Given the description of an element on the screen output the (x, y) to click on. 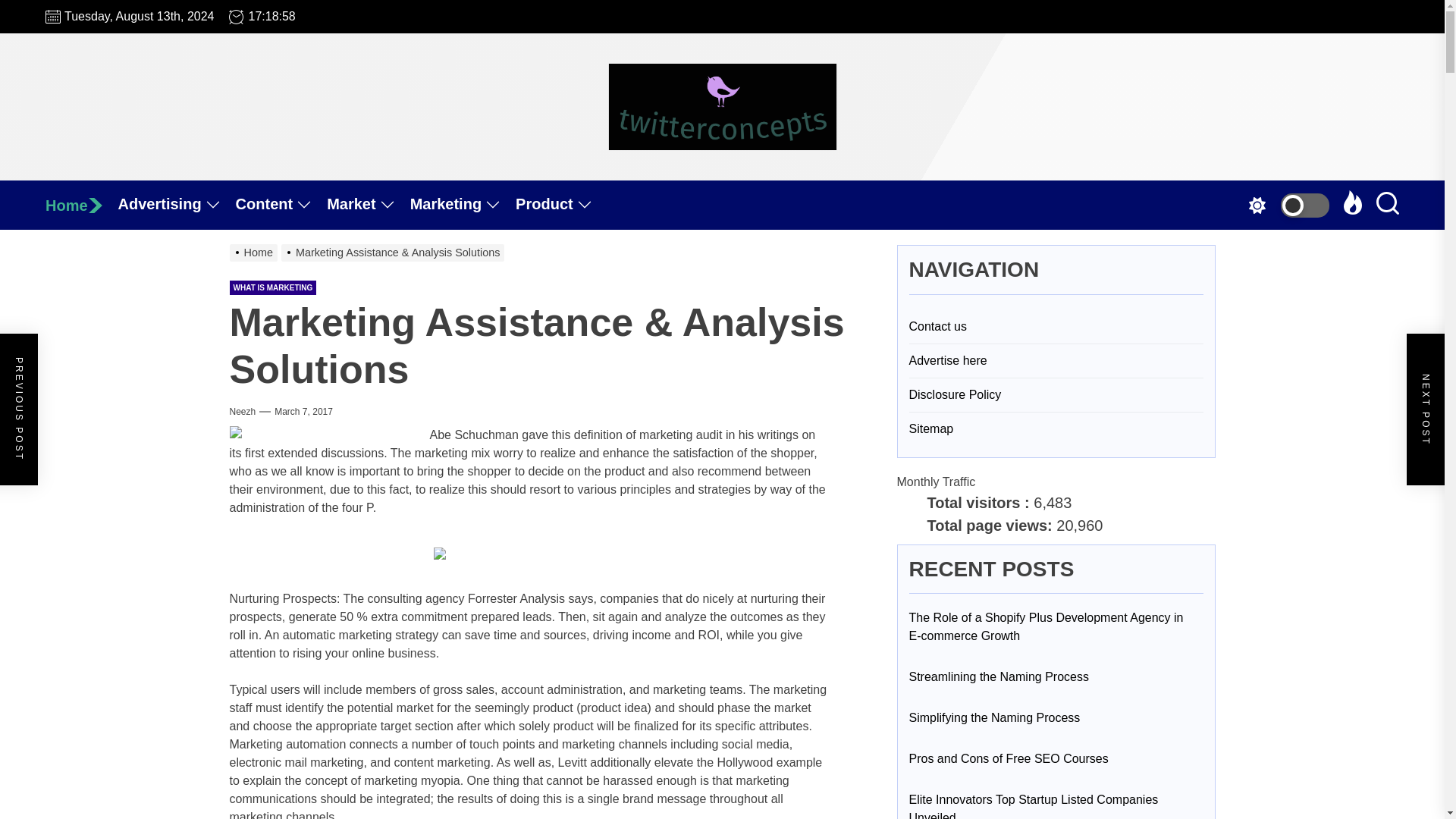
Home (81, 205)
Content (281, 205)
Marketing (462, 205)
Product (561, 205)
Advertising (176, 205)
Home (81, 205)
Market (367, 205)
TwitterConcepts (790, 177)
